Given the description of an element on the screen output the (x, y) to click on. 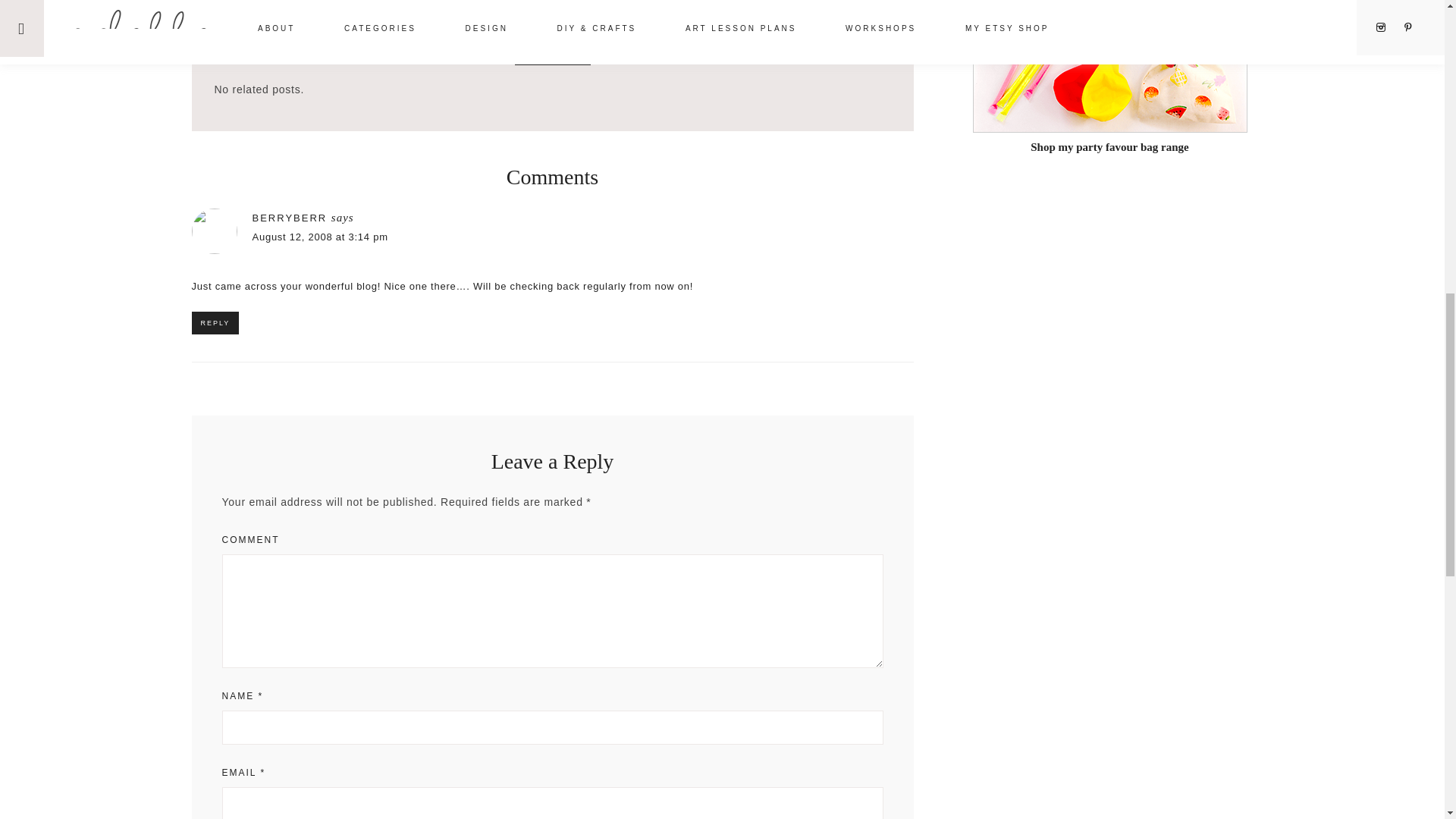
REPLY (214, 323)
August 12, 2008 at 3:14 pm (319, 236)
Shop my party favour bag range (1109, 139)
BERRYBERR (288, 217)
